Given the description of an element on the screen output the (x, y) to click on. 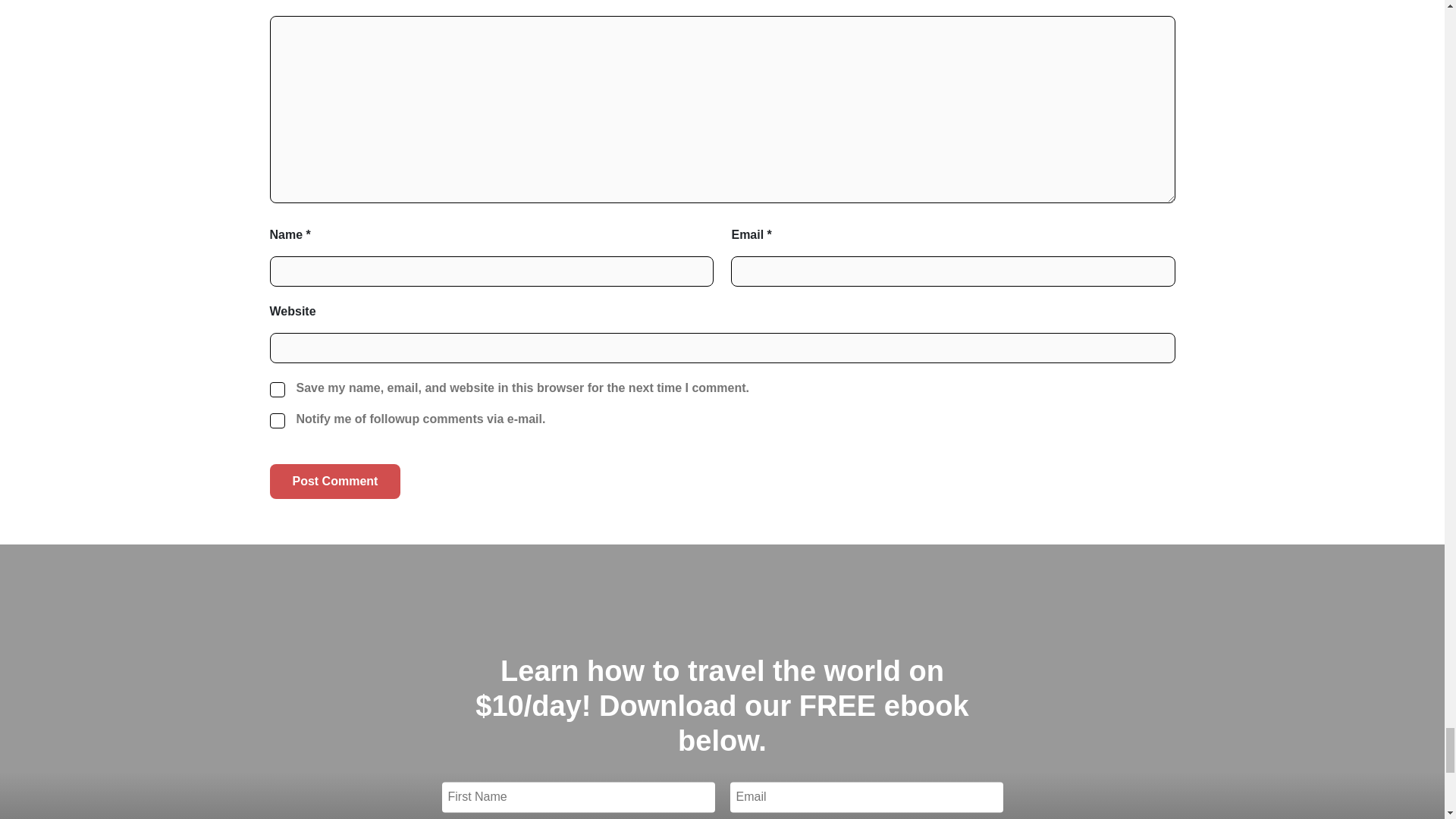
yes (277, 389)
yes (277, 420)
Post Comment (335, 481)
